Given the description of an element on the screen output the (x, y) to click on. 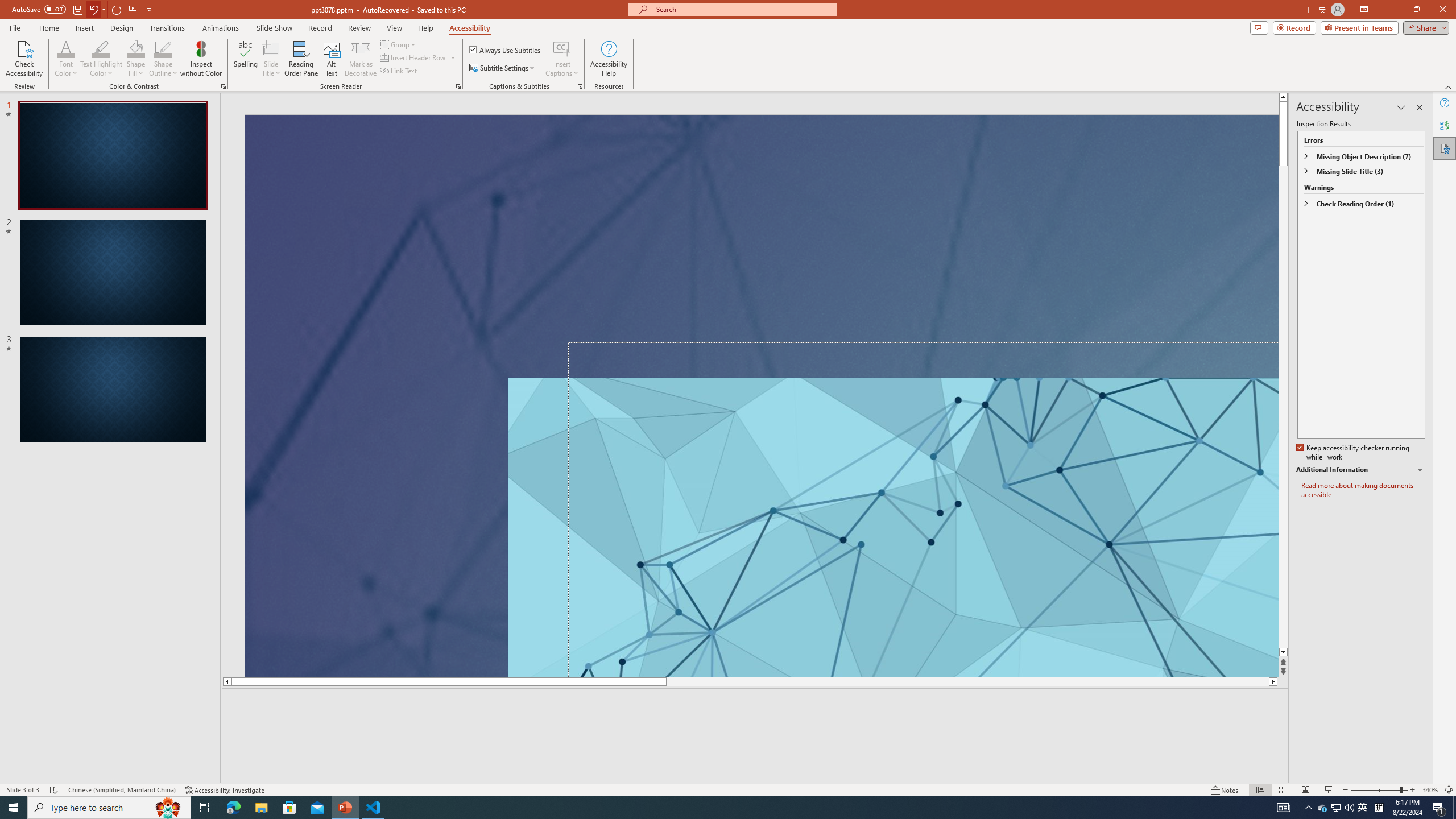
Inspect without Color (201, 58)
Color & Contrast (223, 85)
Shape Outline (163, 48)
Accessibility Help (608, 58)
Reading Order Pane (301, 58)
